Given the description of an element on the screen output the (x, y) to click on. 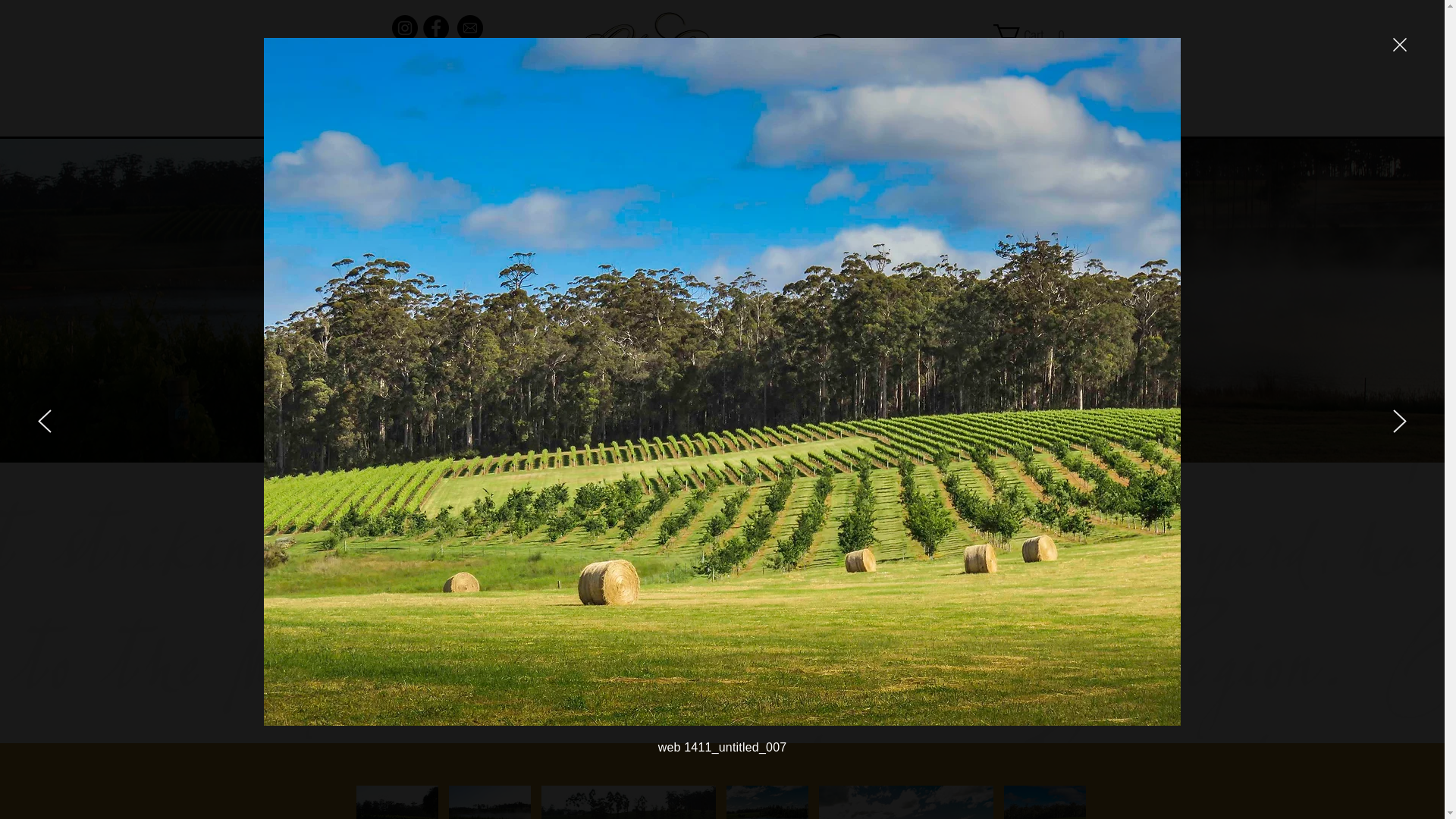
HOME Element type: text (403, 117)
CONTACT Element type: text (1031, 117)
ABOUT THE VINEYARD Element type: text (738, 117)
Cart
0 Element type: text (1033, 34)
OUR PEOPLE Element type: text (901, 117)
DISCOVER OUR WINES Element type: text (551, 117)
